Given the description of an element on the screen output the (x, y) to click on. 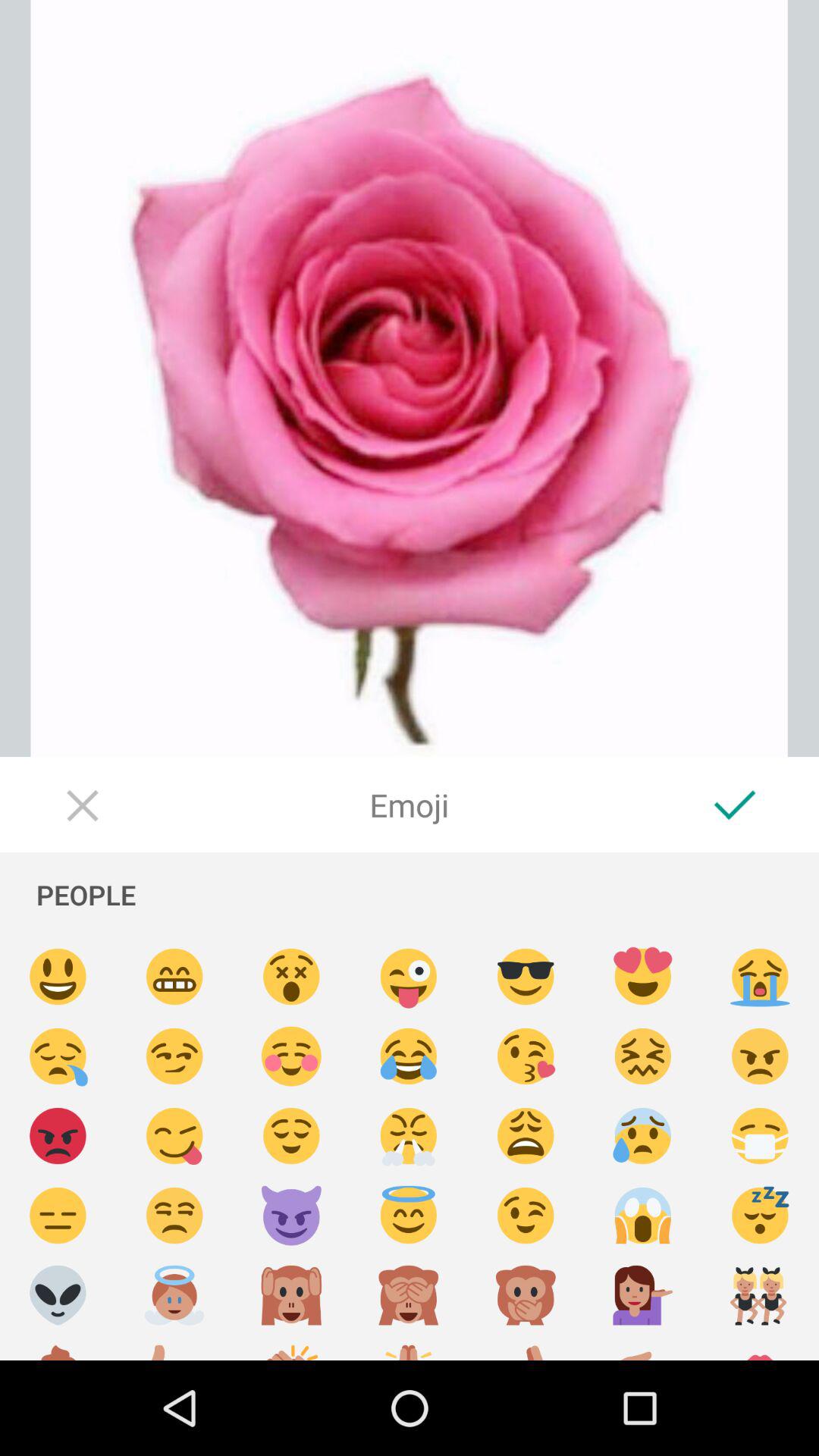
emoji (174, 976)
